Given the description of an element on the screen output the (x, y) to click on. 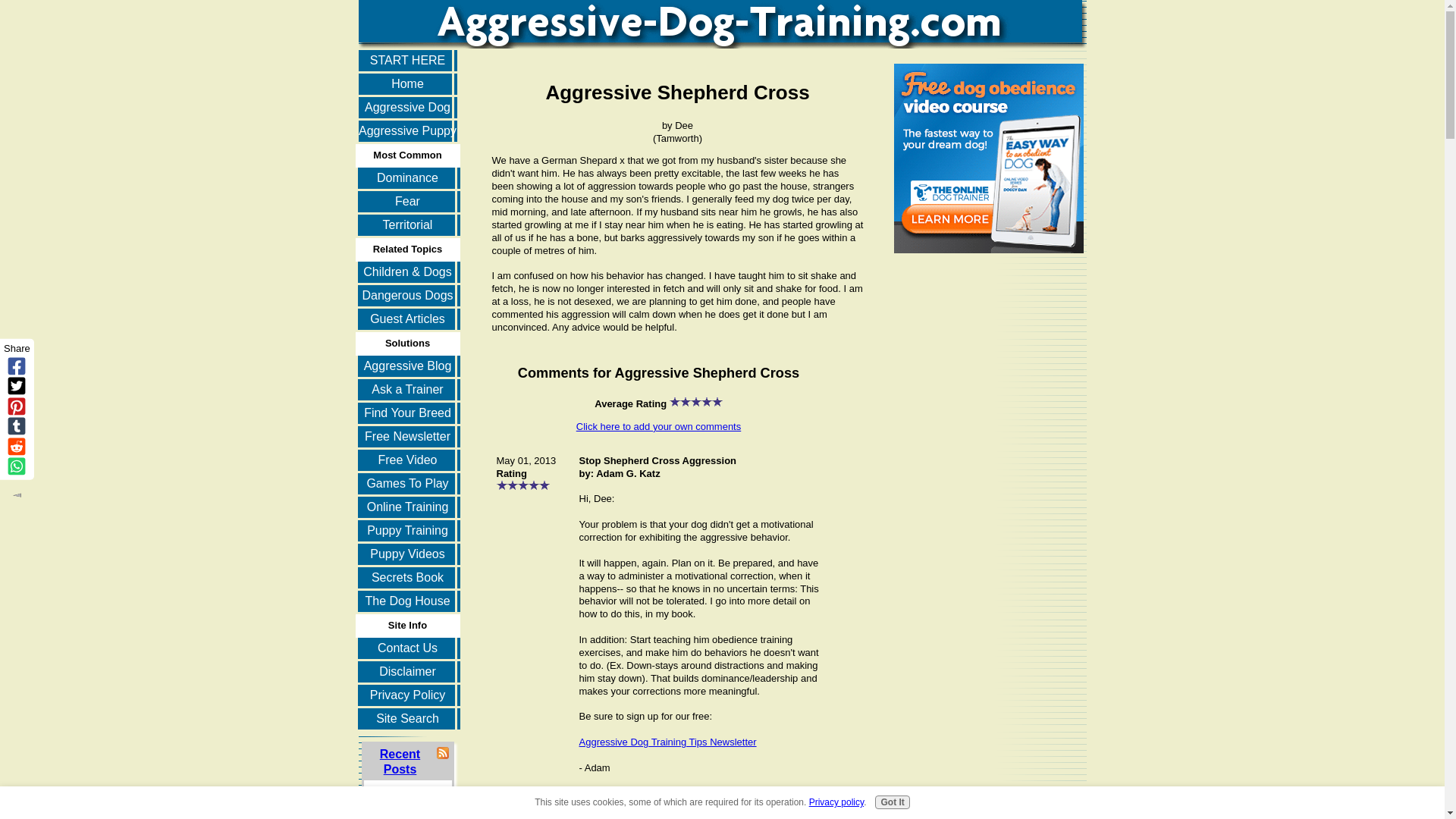
Dominance (407, 178)
Privacy Policy (407, 696)
Aggressive Dog (407, 108)
Aggressive-Dog-Training (668, 741)
The Dog House (407, 602)
Site Search (407, 720)
Aggressive Dog Training Tips Newsletter (668, 741)
Territorial (407, 226)
DogProblems.com (620, 816)
Free Newsletter (407, 437)
